Given the description of an element on the screen output the (x, y) to click on. 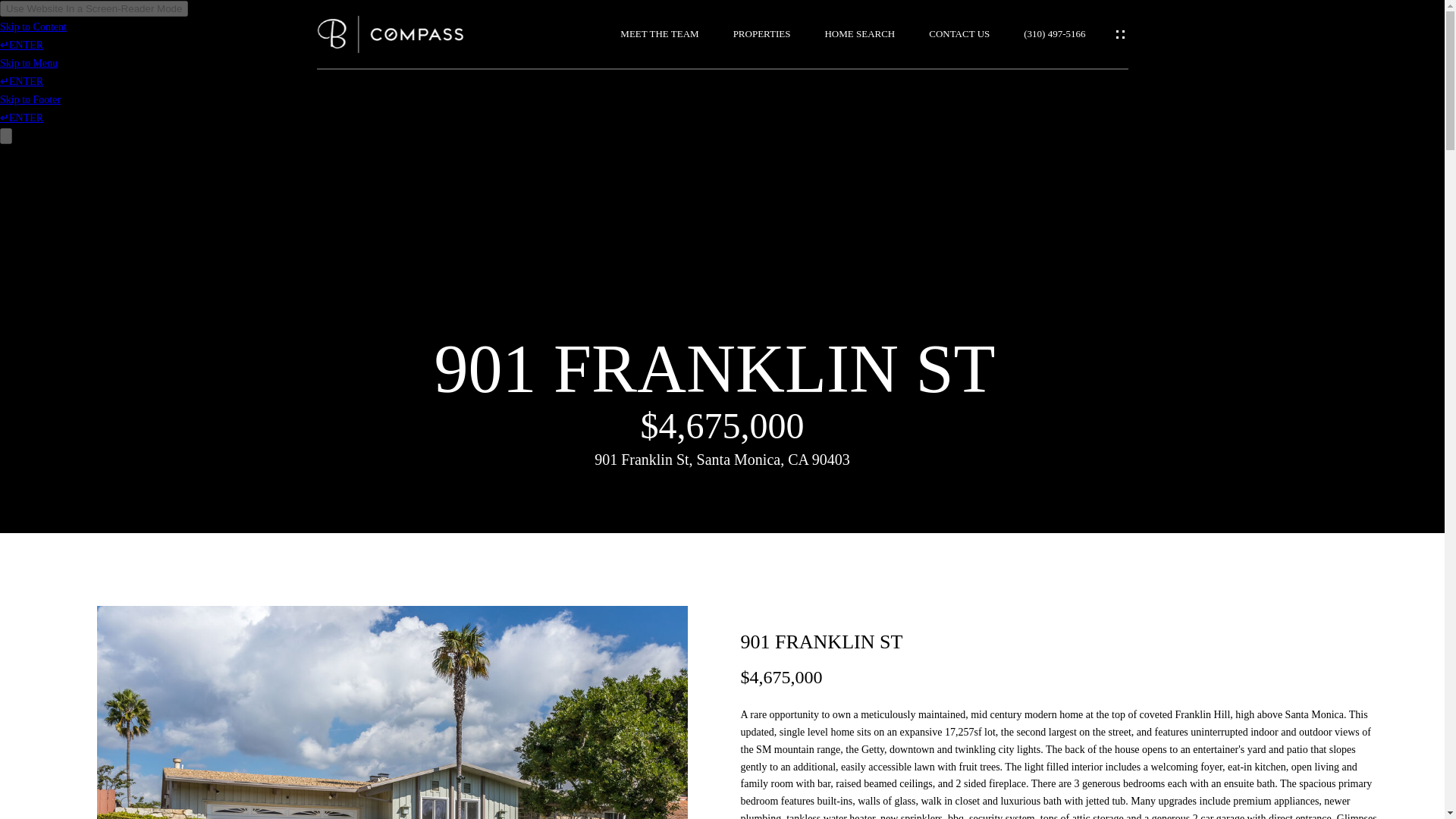
PROPERTIES (761, 33)
CONTACT US (959, 33)
HOME SEARCH (859, 33)
MEET THE TEAM (659, 33)
